Given the description of an element on the screen output the (x, y) to click on. 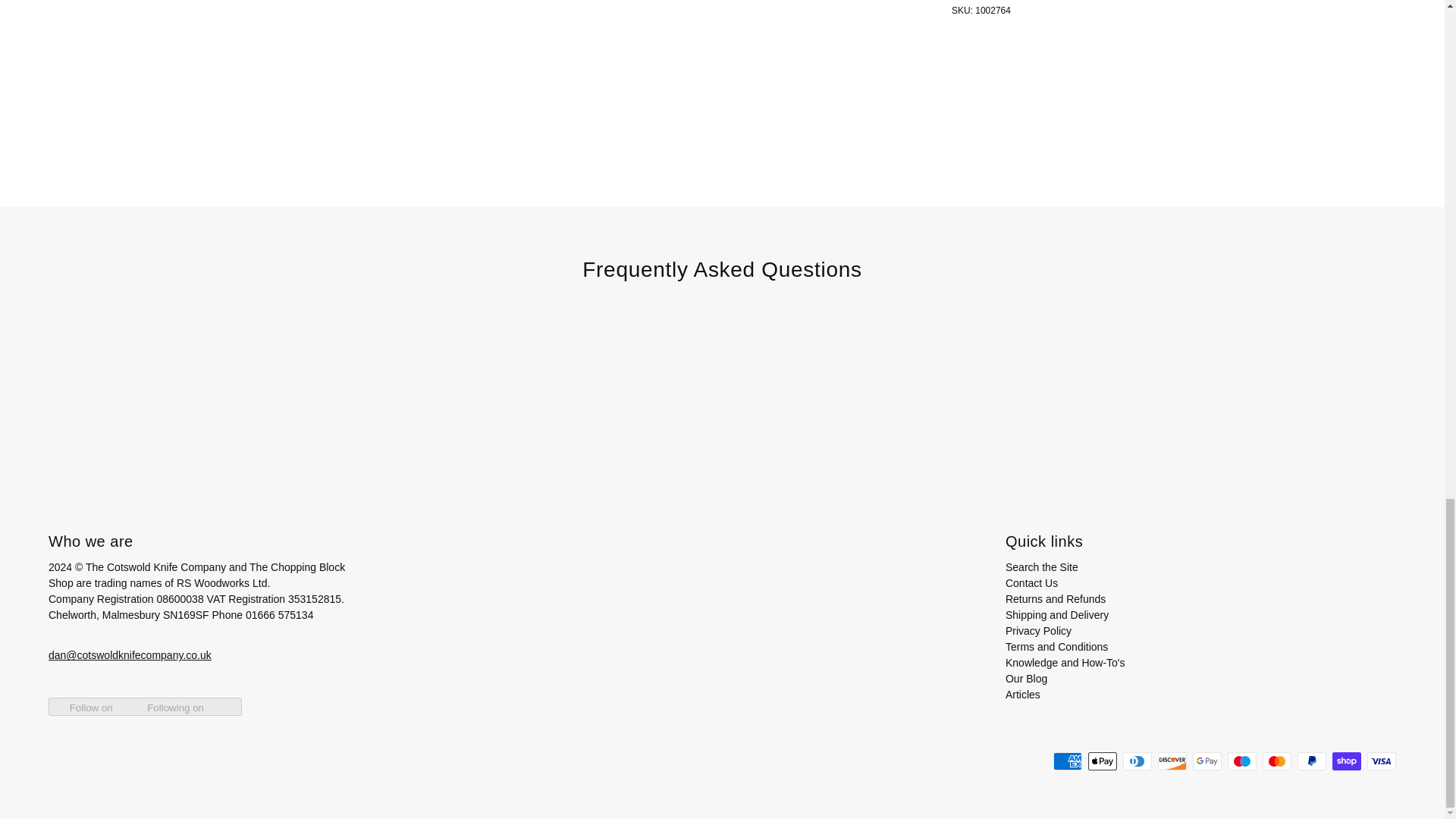
Returns and Refunds (1055, 598)
Contact Us (1032, 582)
Our Blog (1026, 678)
Articles (1023, 694)
Privacy Policy (1038, 630)
Shipping and Delivery (1057, 614)
Knowledge and How-To's (1065, 662)
Terms and Conditions (1057, 646)
